Given the description of an element on the screen output the (x, y) to click on. 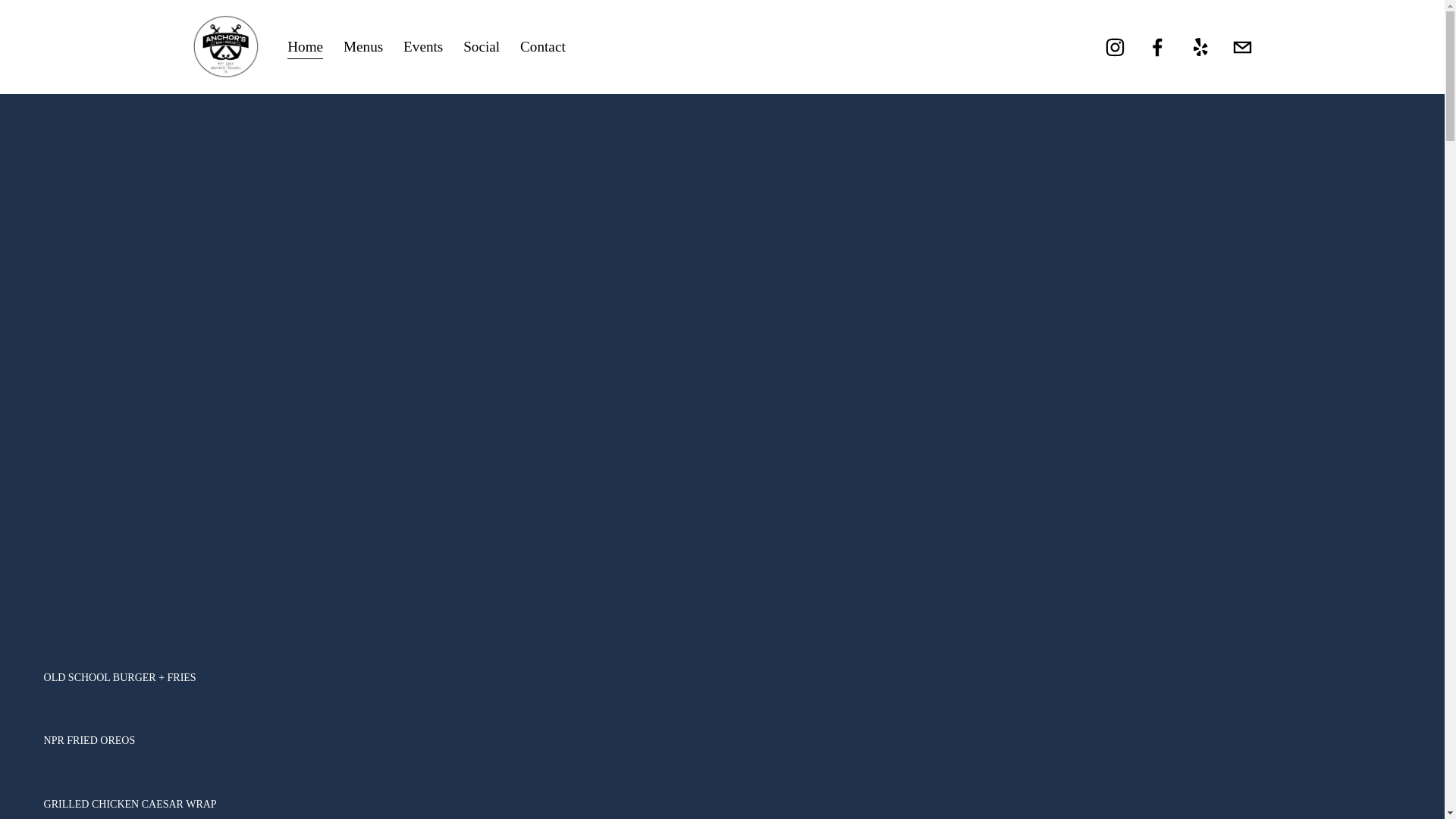
Events (422, 47)
Home (304, 47)
Contact (542, 47)
Social (481, 47)
Menus (362, 47)
